Given the description of an element on the screen output the (x, y) to click on. 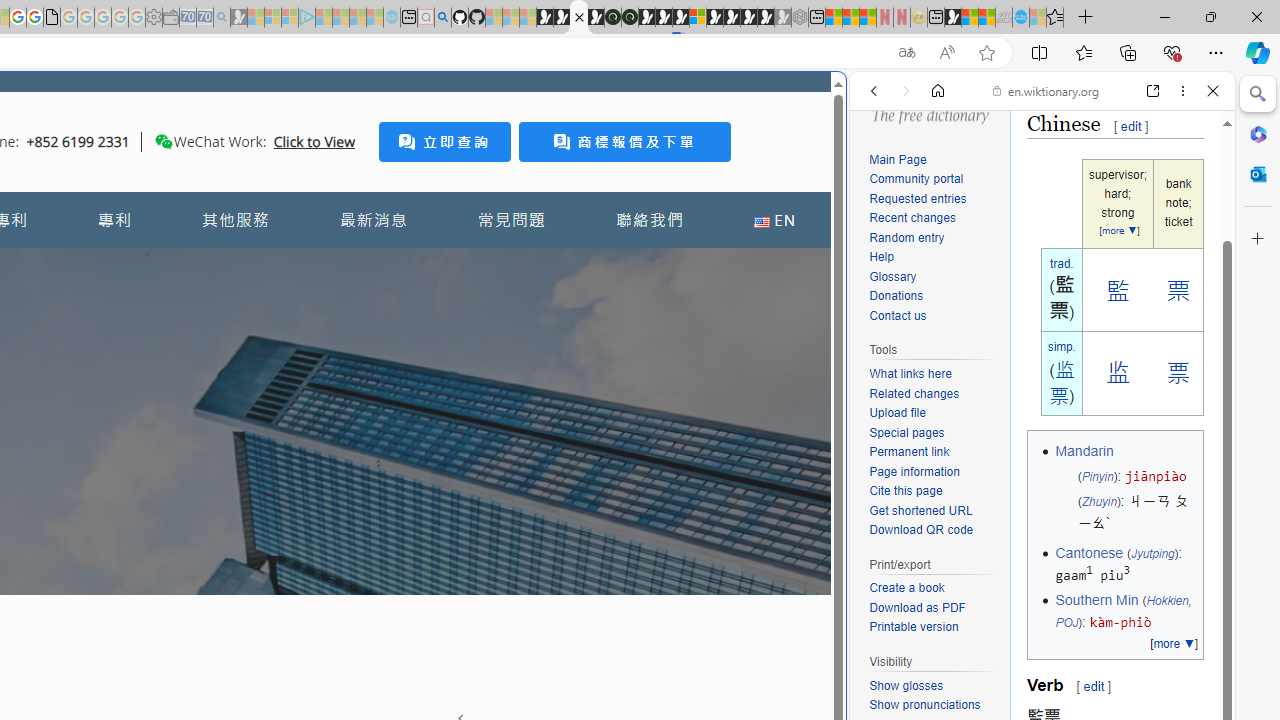
Community portal (934, 179)
Printable version (934, 627)
Create a book (906, 588)
Main Page (897, 159)
